Given the description of an element on the screen output the (x, y) to click on. 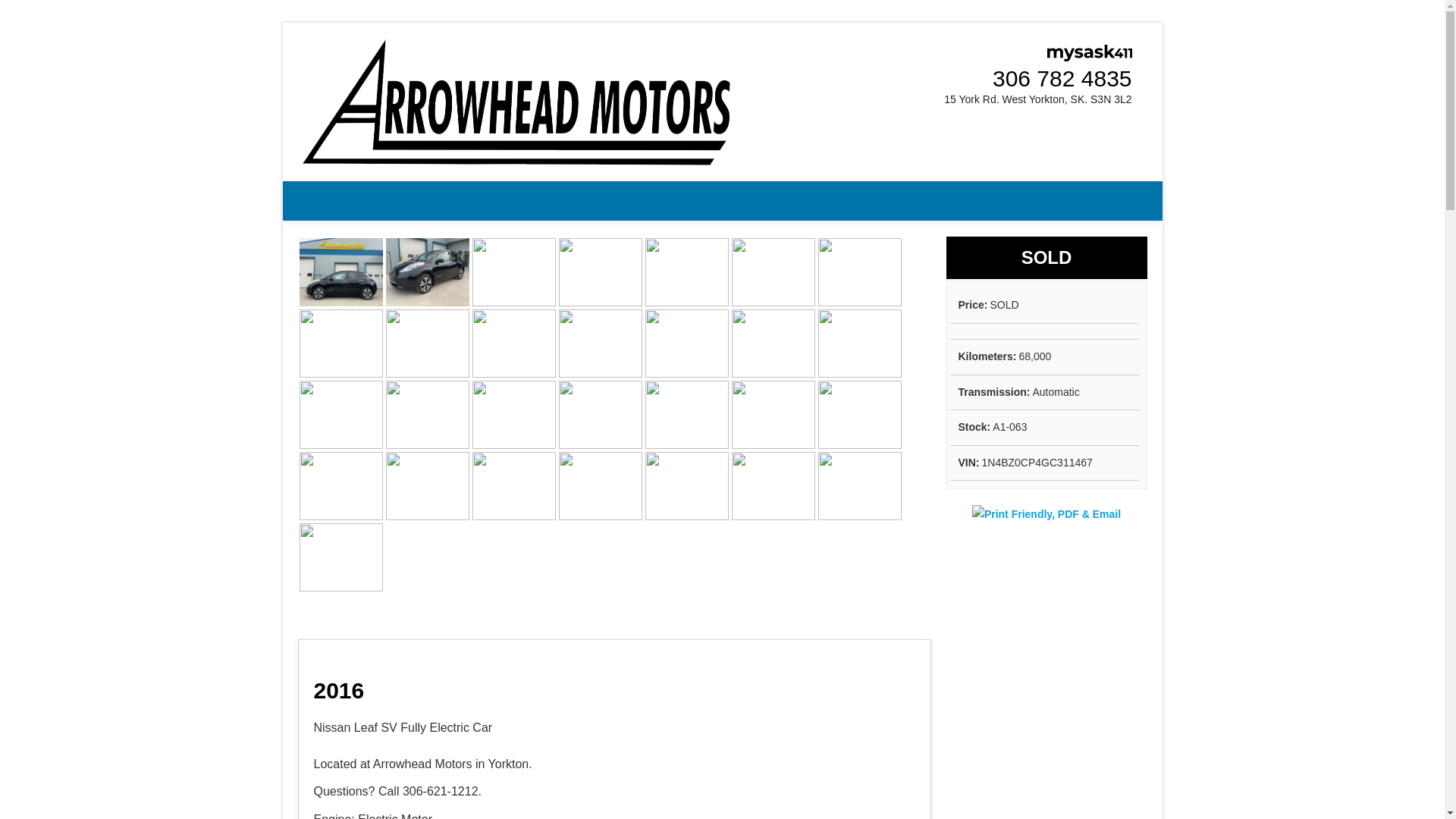
Printer Friendly, PDF & Email Element type: hover (1046, 514)
ARROWHEAD MOTORS LTD Element type: text (434, 213)
